Given the description of an element on the screen output the (x, y) to click on. 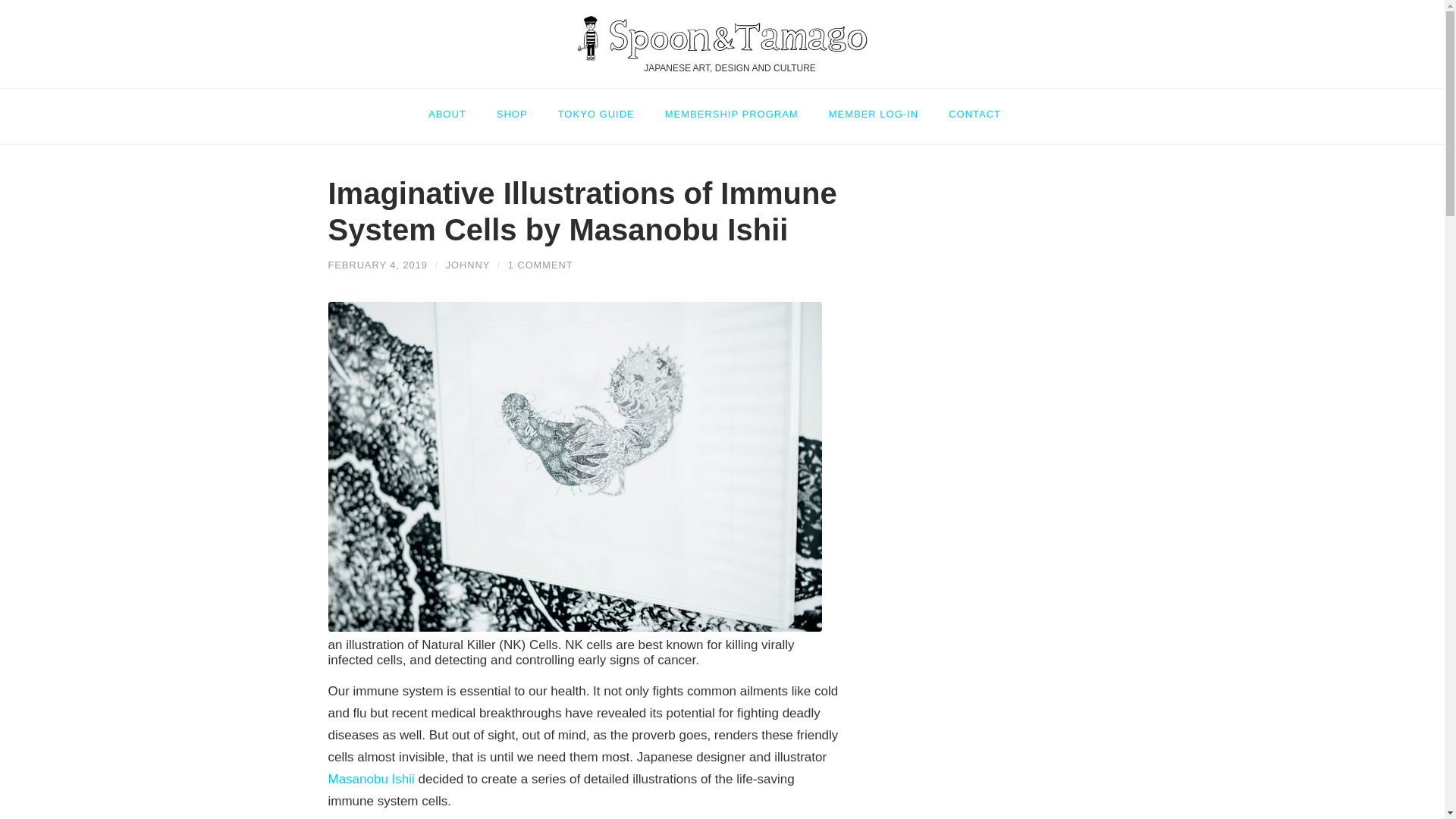
FEBRUARY 4, 2019 (376, 265)
1 COMMENT (540, 265)
TOKYO GUIDE (596, 107)
JOHNNY (467, 265)
Posts by Johnny (467, 265)
JAPANESE ART, DESIGN AND CULTURE (721, 43)
Masanobu Ishii (370, 779)
MEMBERSHIP PROGRAM (731, 107)
ABOUT (454, 107)
MEMBER LOG-IN (873, 107)
SHOP (512, 107)
CONTACT (974, 107)
